Given the description of an element on the screen output the (x, y) to click on. 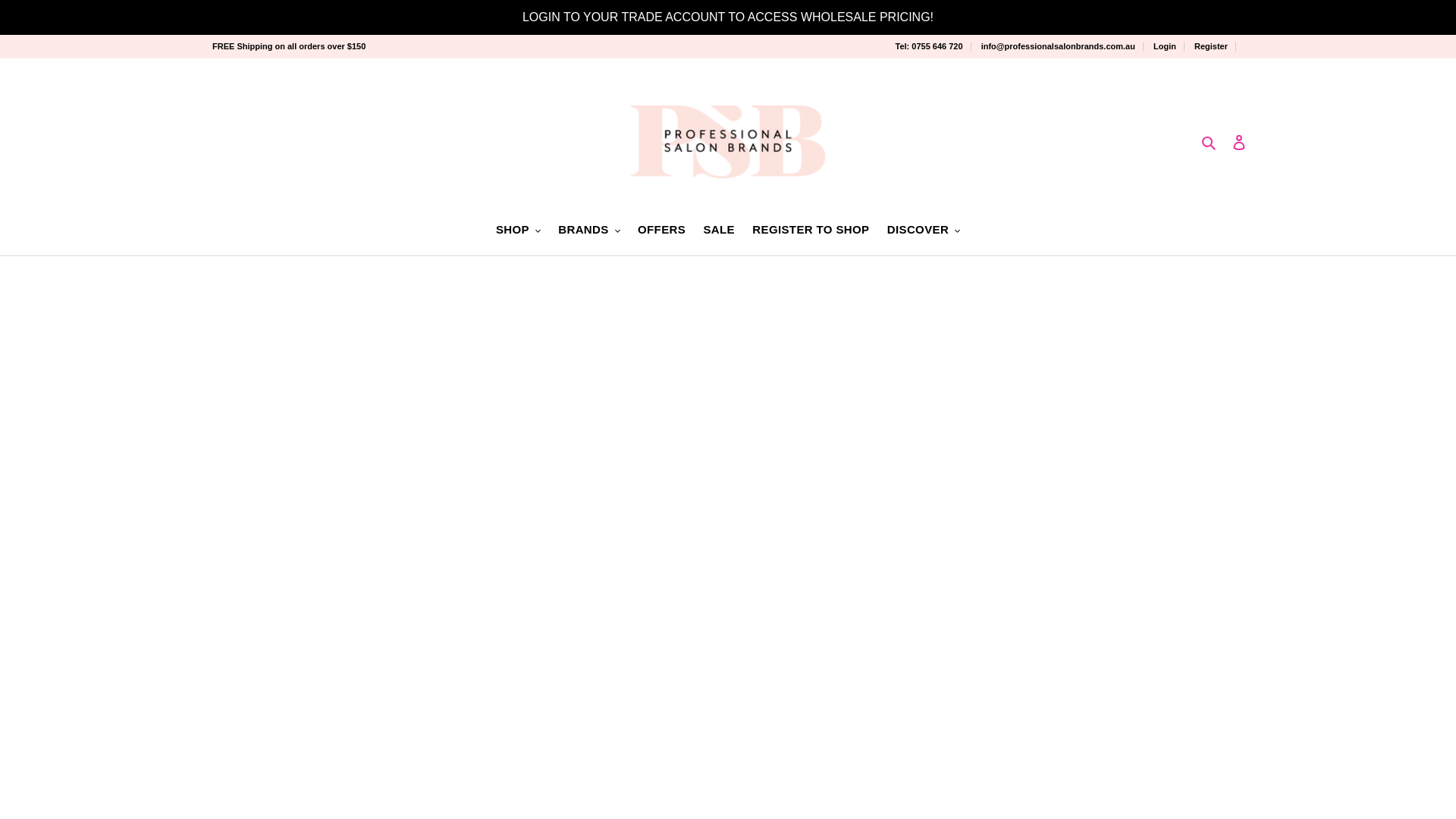
SHOP (517, 230)
Log in (1239, 141)
Search (1209, 141)
Login (1169, 46)
Tel: 0755 646 720 (933, 46)
Register (1214, 46)
Search (1209, 140)
